Given the description of an element on the screen output the (x, y) to click on. 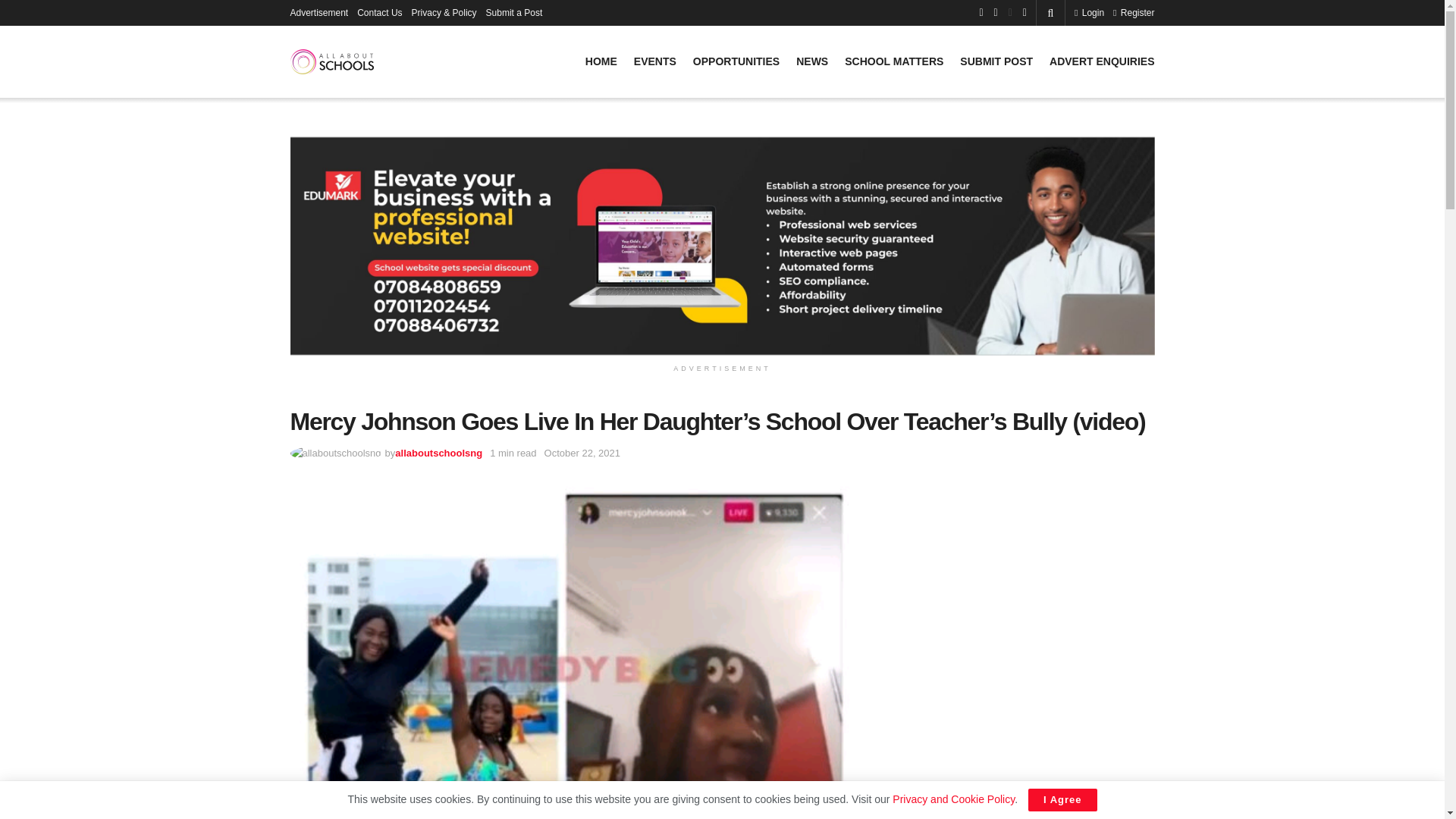
Submit a Post (514, 12)
Register (1133, 12)
Advertisement (318, 12)
OPPORTUNITIES (735, 61)
allaboutschoolsng (437, 452)
SCHOOL MATTERS (893, 61)
ADVERT ENQUIRIES (1101, 61)
Contact Us (378, 12)
SUBMIT POST (995, 61)
Login (1088, 12)
